Given the description of an element on the screen output the (x, y) to click on. 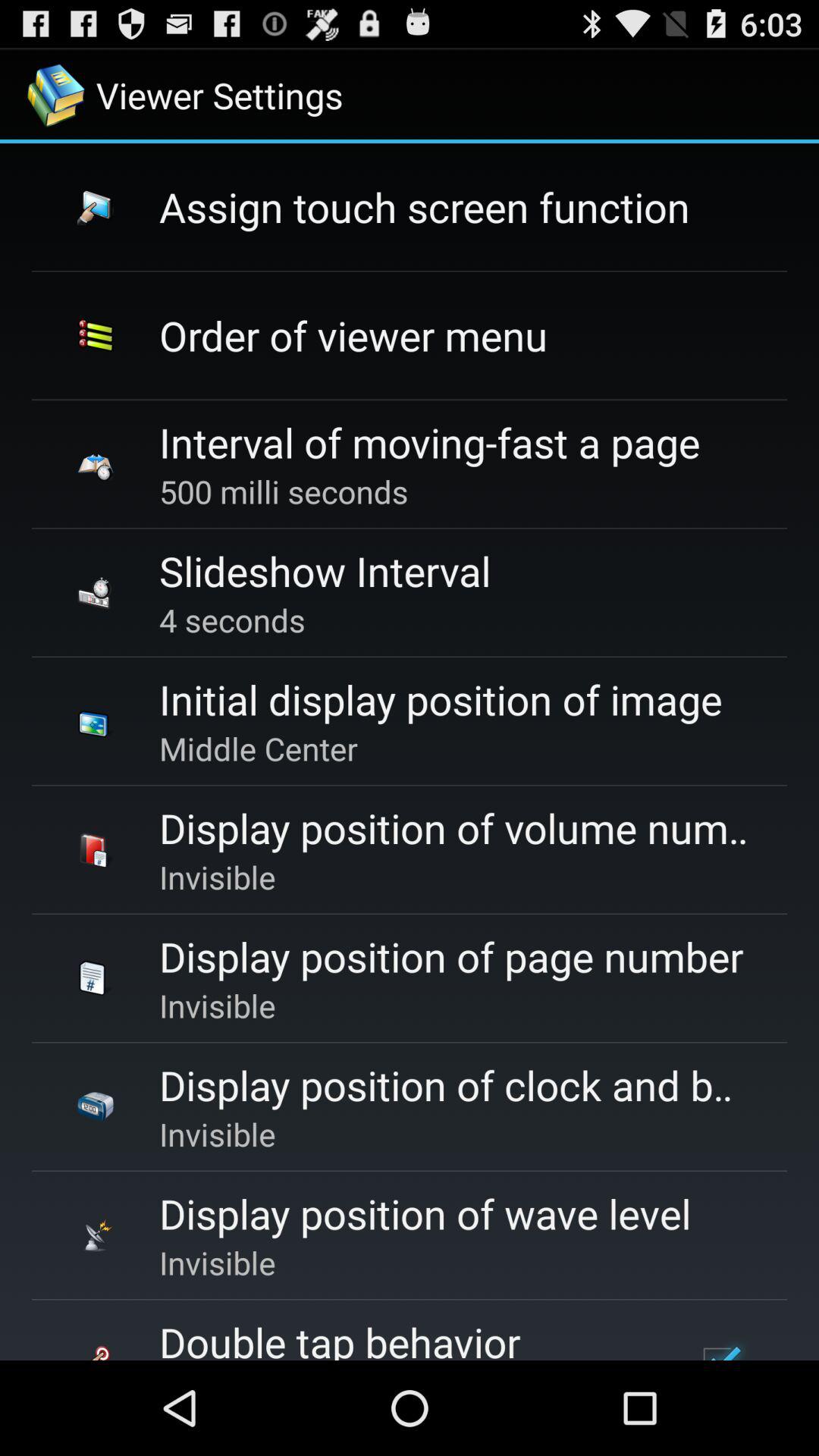
tap the item above the 4 seconds (324, 570)
